Given the description of an element on the screen output the (x, y) to click on. 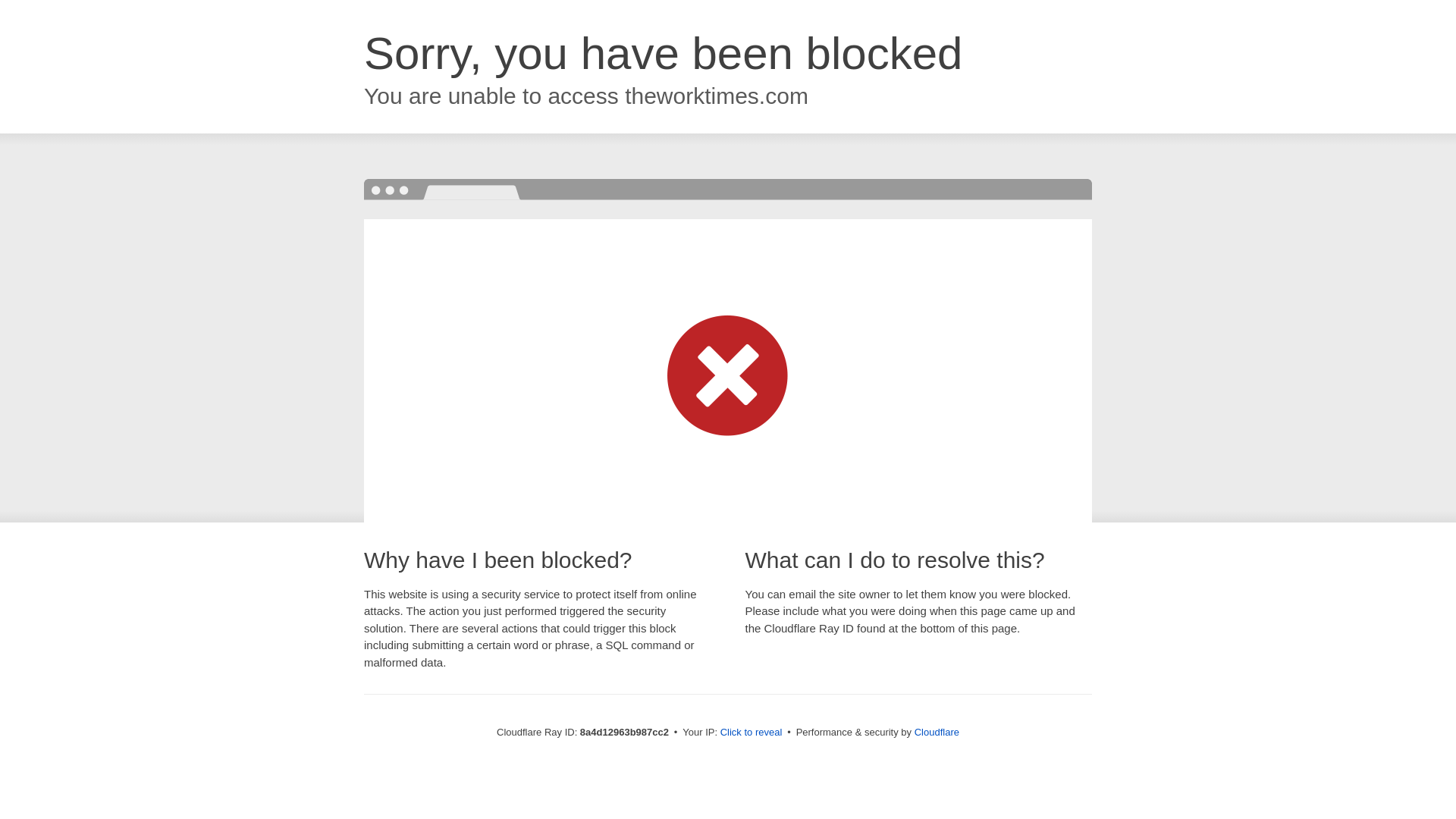
Cloudflare (936, 731)
Click to reveal (751, 732)
